Given the description of an element on the screen output the (x, y) to click on. 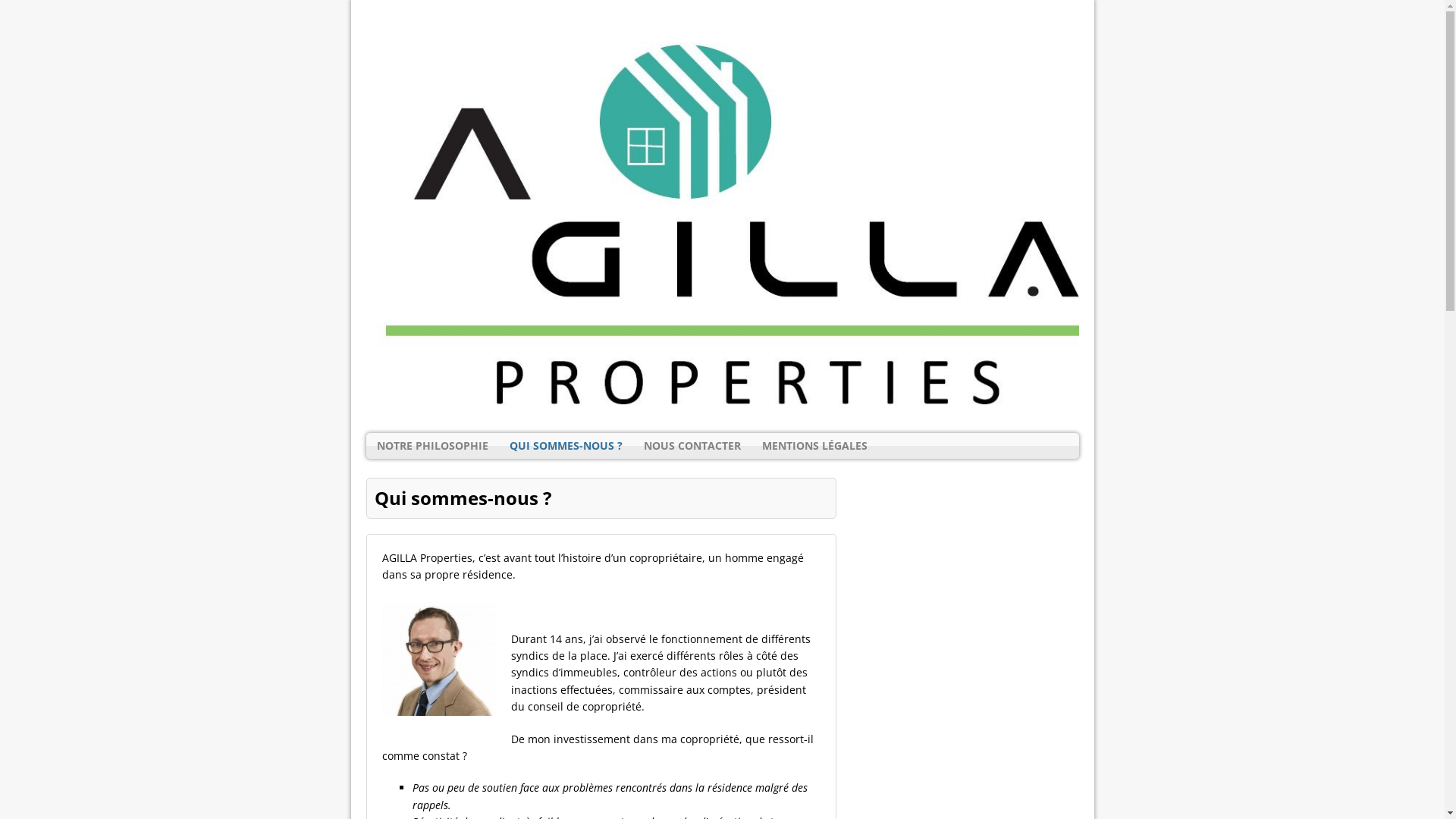
QUI SOMMES-NOUS ? Element type: text (565, 445)
NOUS CONTACTER Element type: text (691, 445)
NOTRE PHILOSOPHIE Element type: text (431, 445)
